Given the description of an element on the screen output the (x, y) to click on. 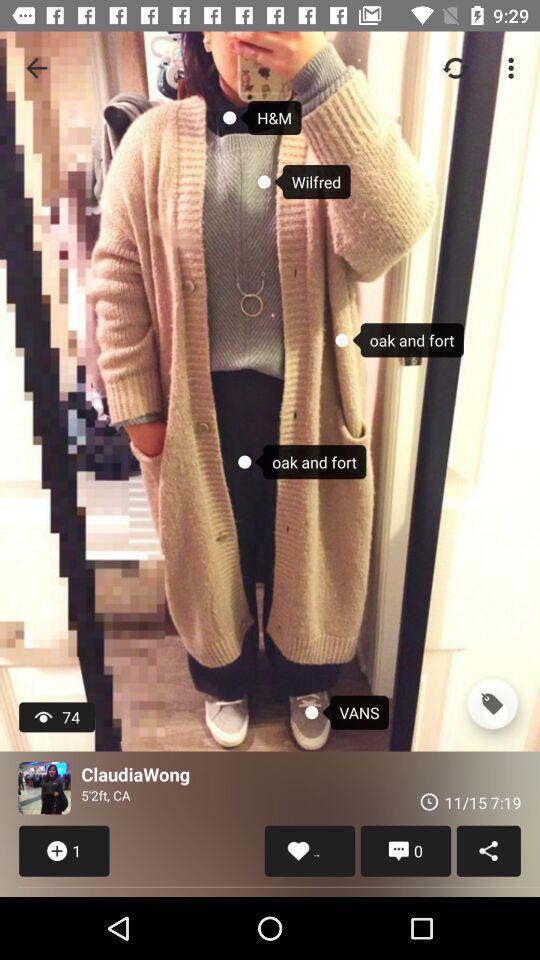
launch the icon next to the vans (492, 704)
